Given the description of an element on the screen output the (x, y) to click on. 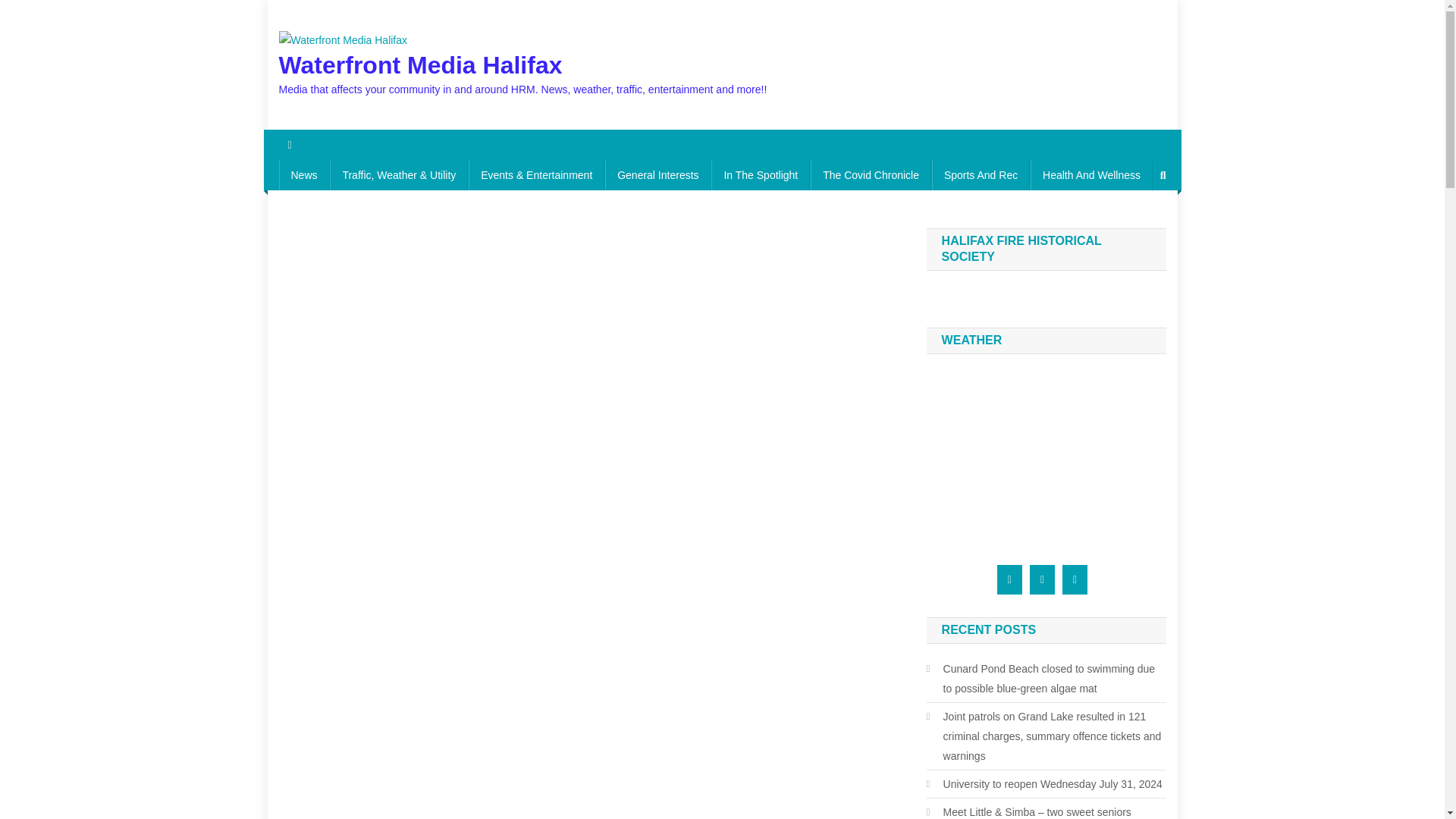
Search (1133, 225)
Sports And Rec (980, 174)
Health And Wellness (1091, 174)
In The Spotlight (760, 174)
General Interests (657, 174)
Environment Canada Weather (1035, 452)
Waterfront Media Halifax (420, 64)
News (304, 174)
The Covid Chronicle (870, 174)
